Given the description of an element on the screen output the (x, y) to click on. 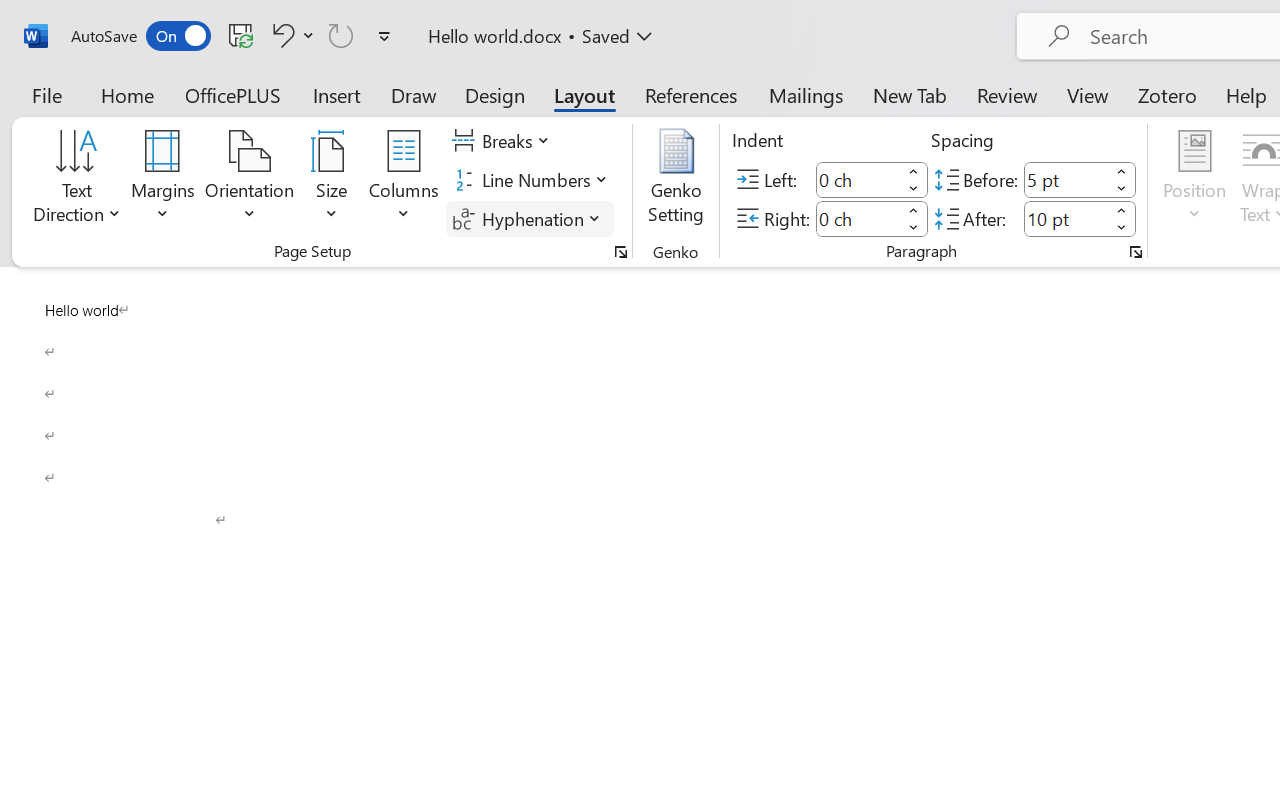
Design (495, 94)
References (690, 94)
More (1121, 210)
View (1087, 94)
Genko Setting... (676, 179)
Review (1007, 94)
Hyphenation (529, 218)
Less (1121, 227)
Orientation (250, 179)
Breaks (504, 141)
Line Numbers (532, 179)
OfficePLUS (233, 94)
Undo Apply Quick Style Set (290, 35)
Layout (584, 94)
New Tab (909, 94)
